Given the description of an element on the screen output the (x, y) to click on. 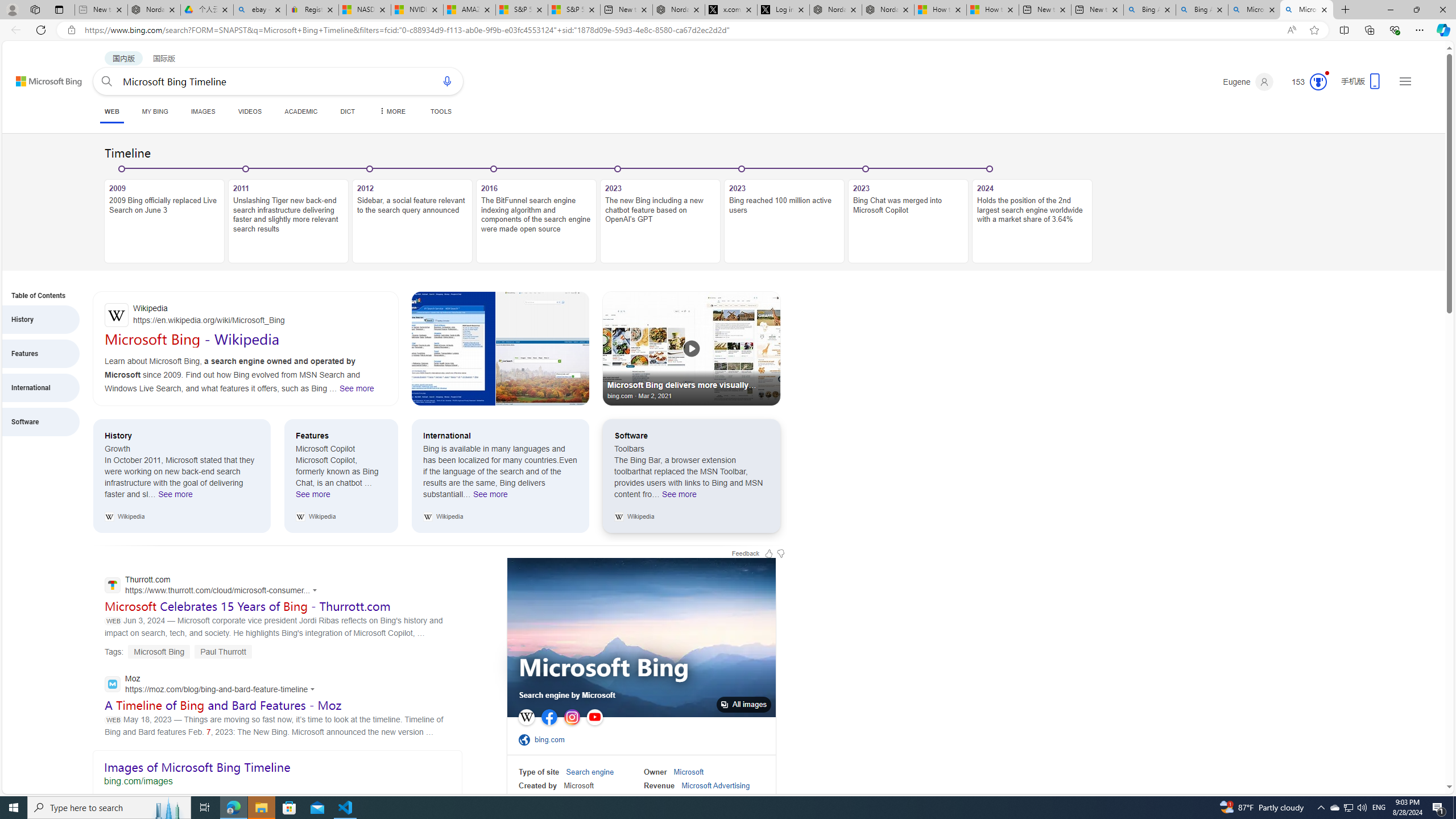
WEB (111, 112)
All images (743, 704)
See more (618, 516)
Owner (654, 772)
Microsoft (688, 772)
Bing AI - Search (1201, 9)
IMAGES (202, 111)
AutomationID: mfa_root (1406, 752)
VIDEOS (249, 111)
See more International (490, 496)
